Given the description of an element on the screen output the (x, y) to click on. 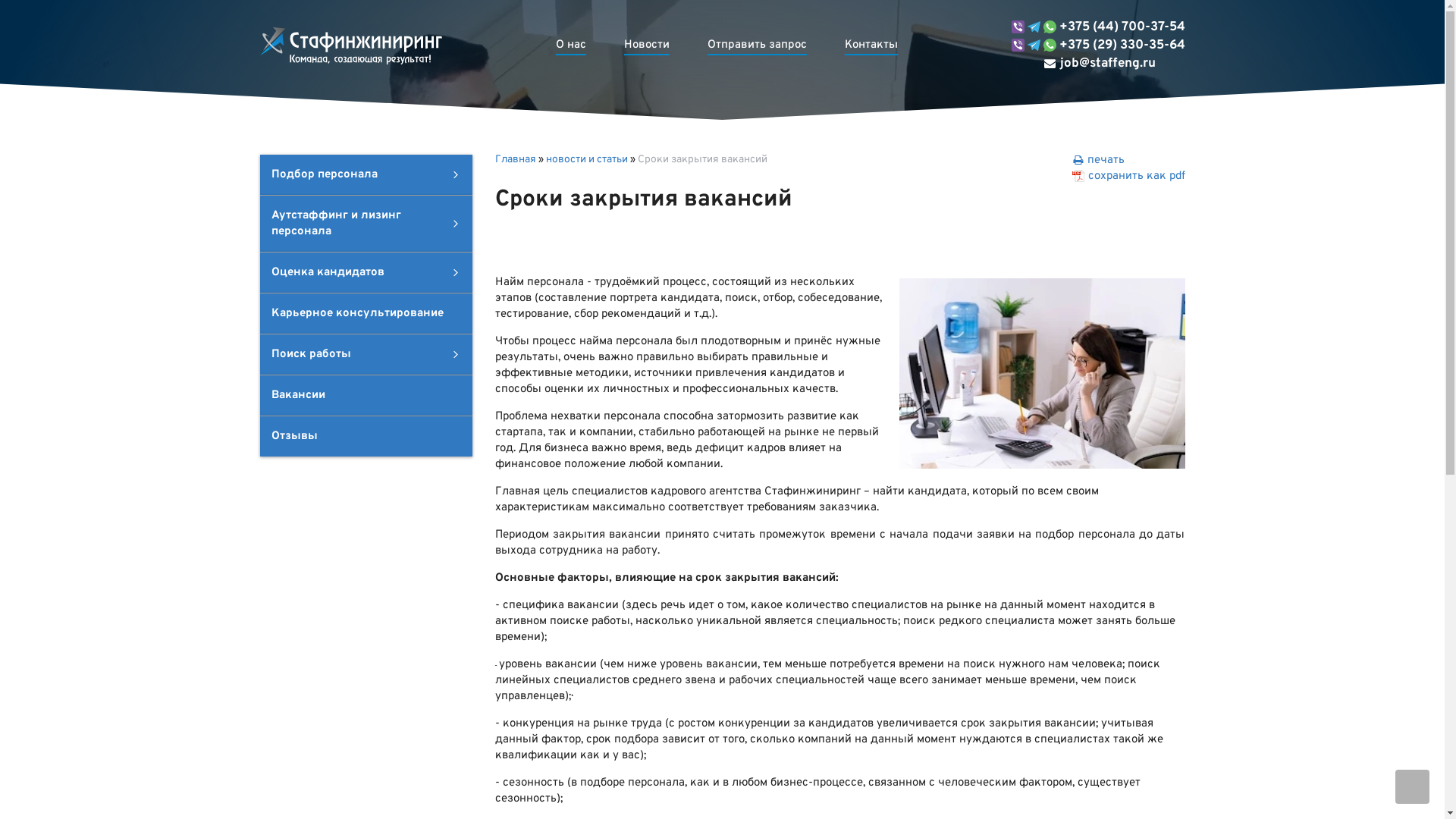
+375 (44) 700-37-54 Element type: text (1098, 26)
+375 (29) 330-35-64 Element type: text (1098, 45)
job@staffeng.ru Element type: text (1083, 63)
